Given the description of an element on the screen output the (x, y) to click on. 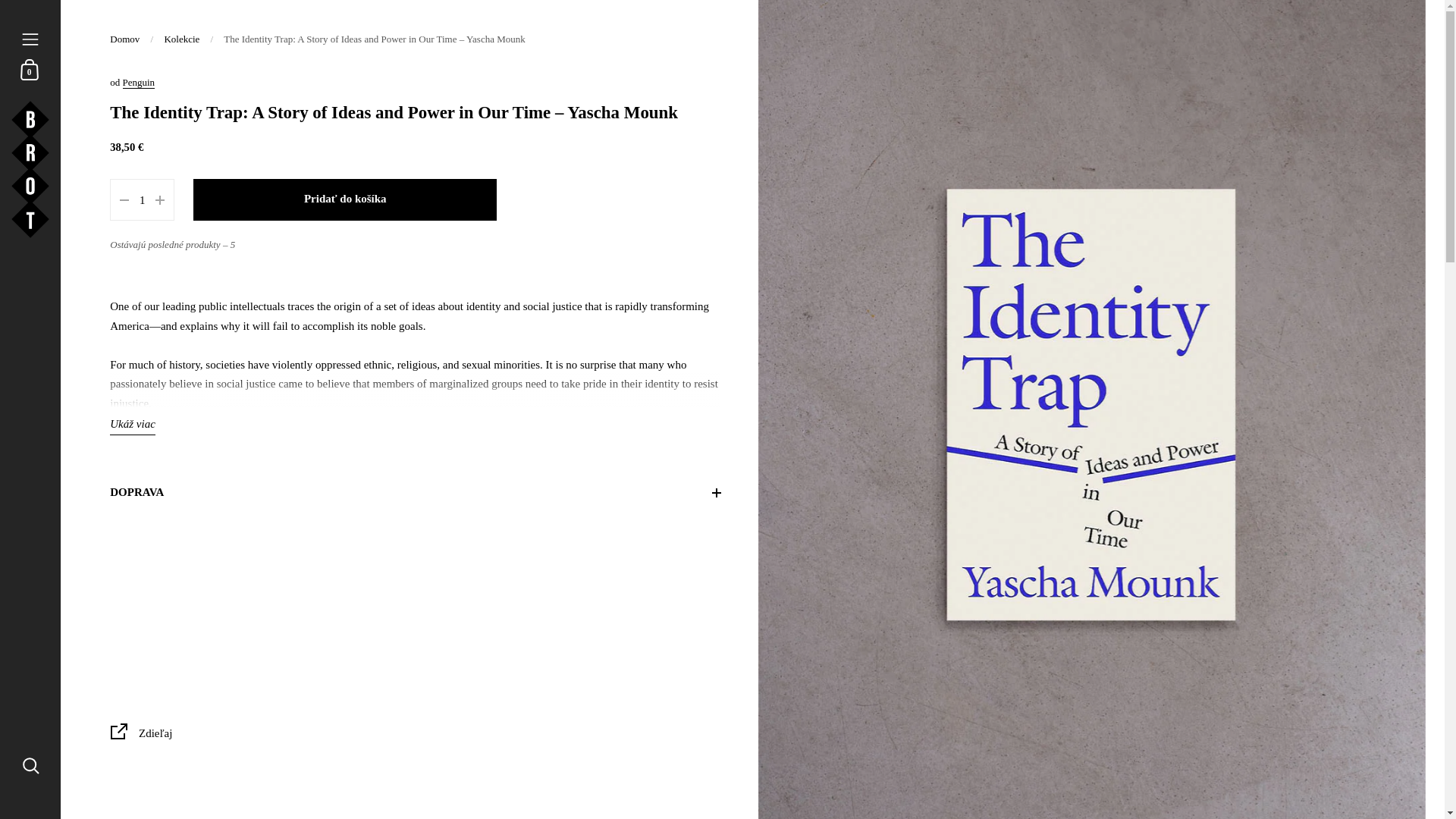
1 (141, 200)
Penguin (138, 81)
0 (29, 67)
